Given the description of an element on the screen output the (x, y) to click on. 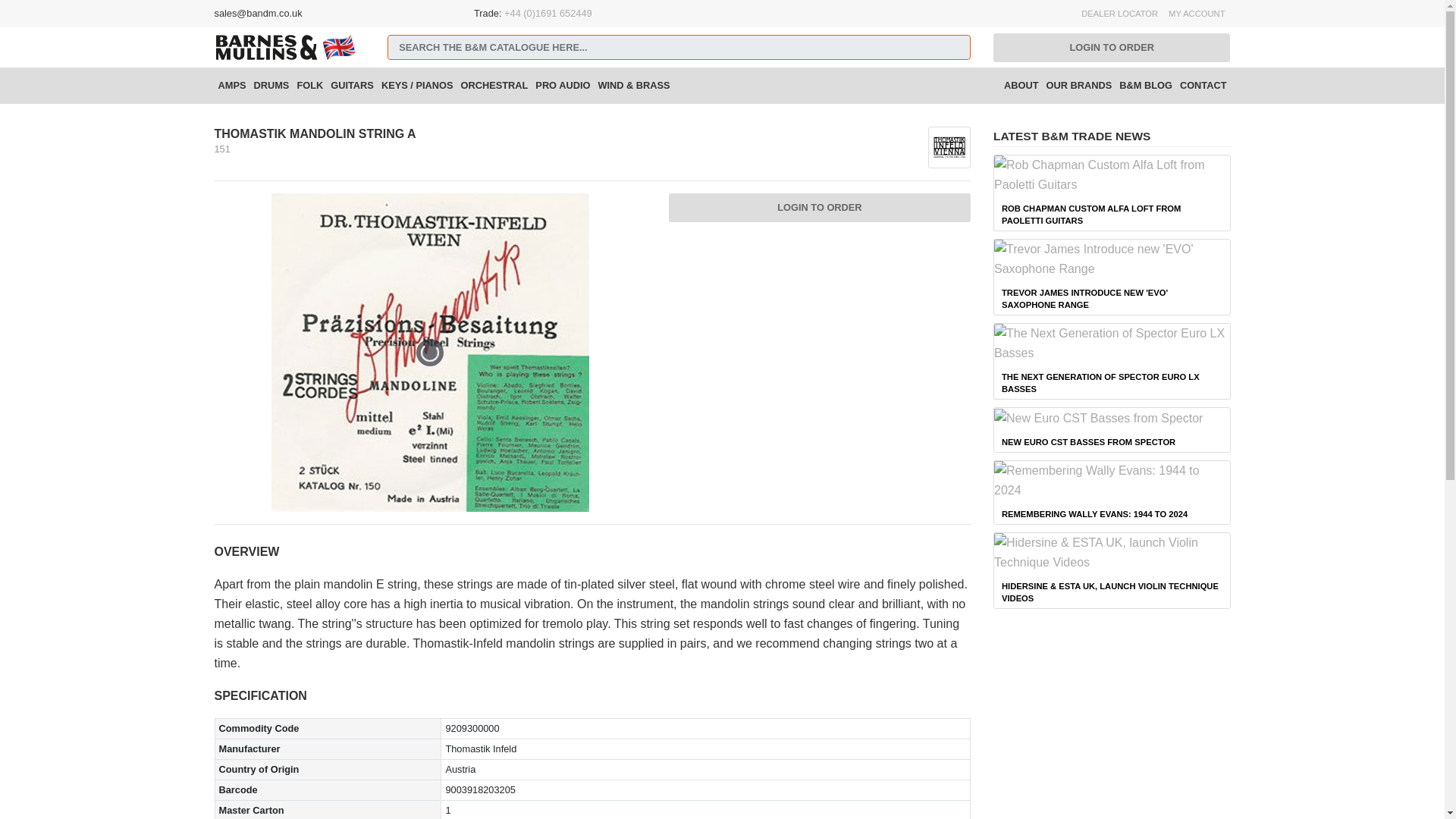
About Barnes and Mullins (1021, 85)
AMPS (231, 85)
Click to call (547, 12)
MY ACCOUNT (1196, 13)
DEALER LOCATOR (1119, 13)
Dealer Locator (1119, 13)
LOGIN TO ORDER (1111, 47)
My Account (1196, 13)
Contact Barnes and Mullins (1203, 85)
